Given the description of an element on the screen output the (x, y) to click on. 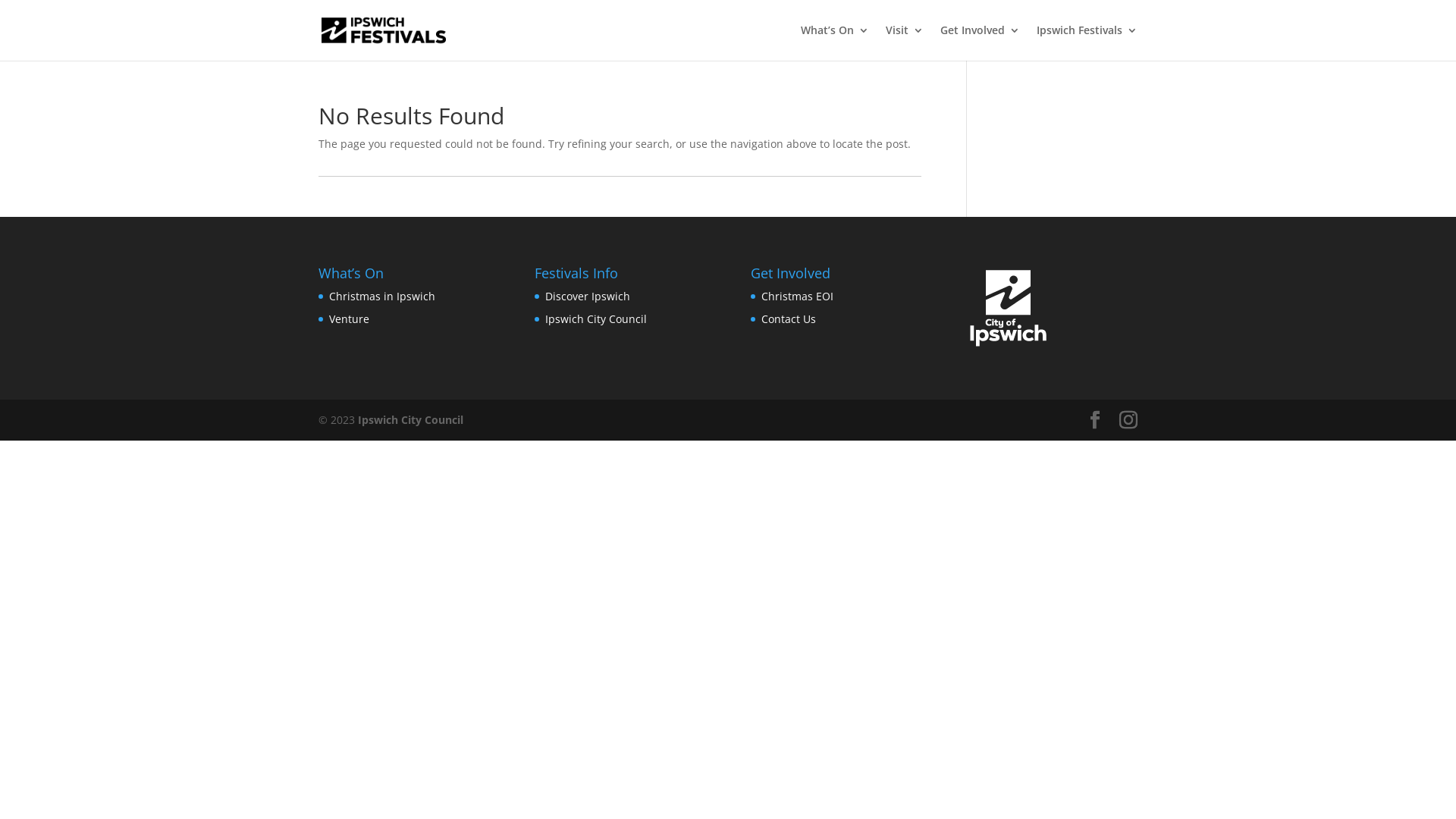
Get Involved Element type: text (979, 42)
Contact Us Element type: text (788, 318)
Discover Ipswich Element type: text (587, 295)
Christmas EOI Element type: text (797, 295)
Visit Element type: text (904, 42)
Christmas in Ipswich Element type: text (382, 295)
Ipswich City Council Element type: text (595, 318)
Venture Element type: text (349, 318)
Ipswich Festivals Element type: text (1086, 42)
Ipswich City Council Element type: text (410, 419)
